Given the description of an element on the screen output the (x, y) to click on. 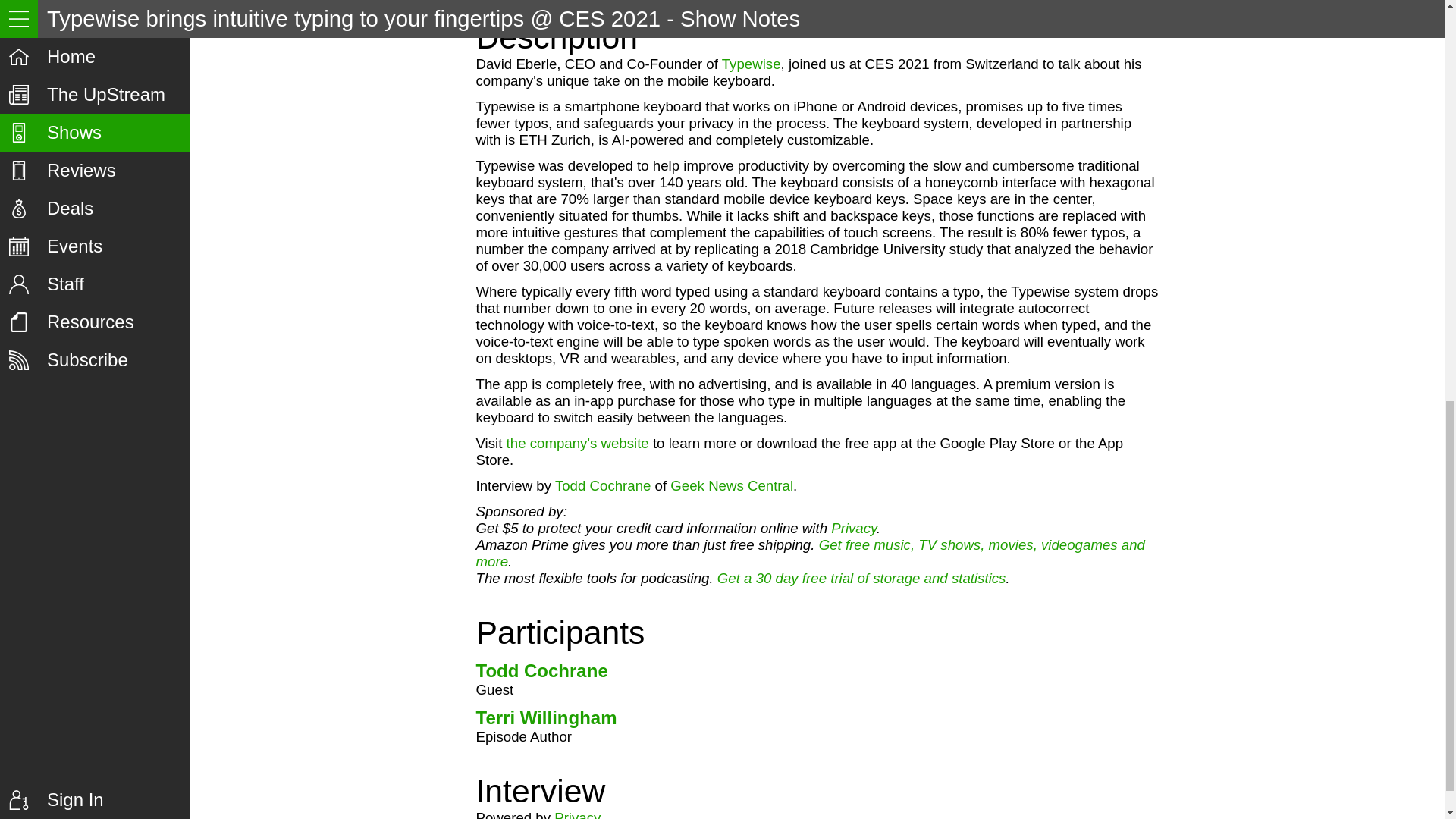
Audio (589, 4)
New Window (951, 4)
Subscribe (750, 4)
Embed (665, 4)
Video (513, 4)
Download (844, 4)
